Given the description of an element on the screen output the (x, y) to click on. 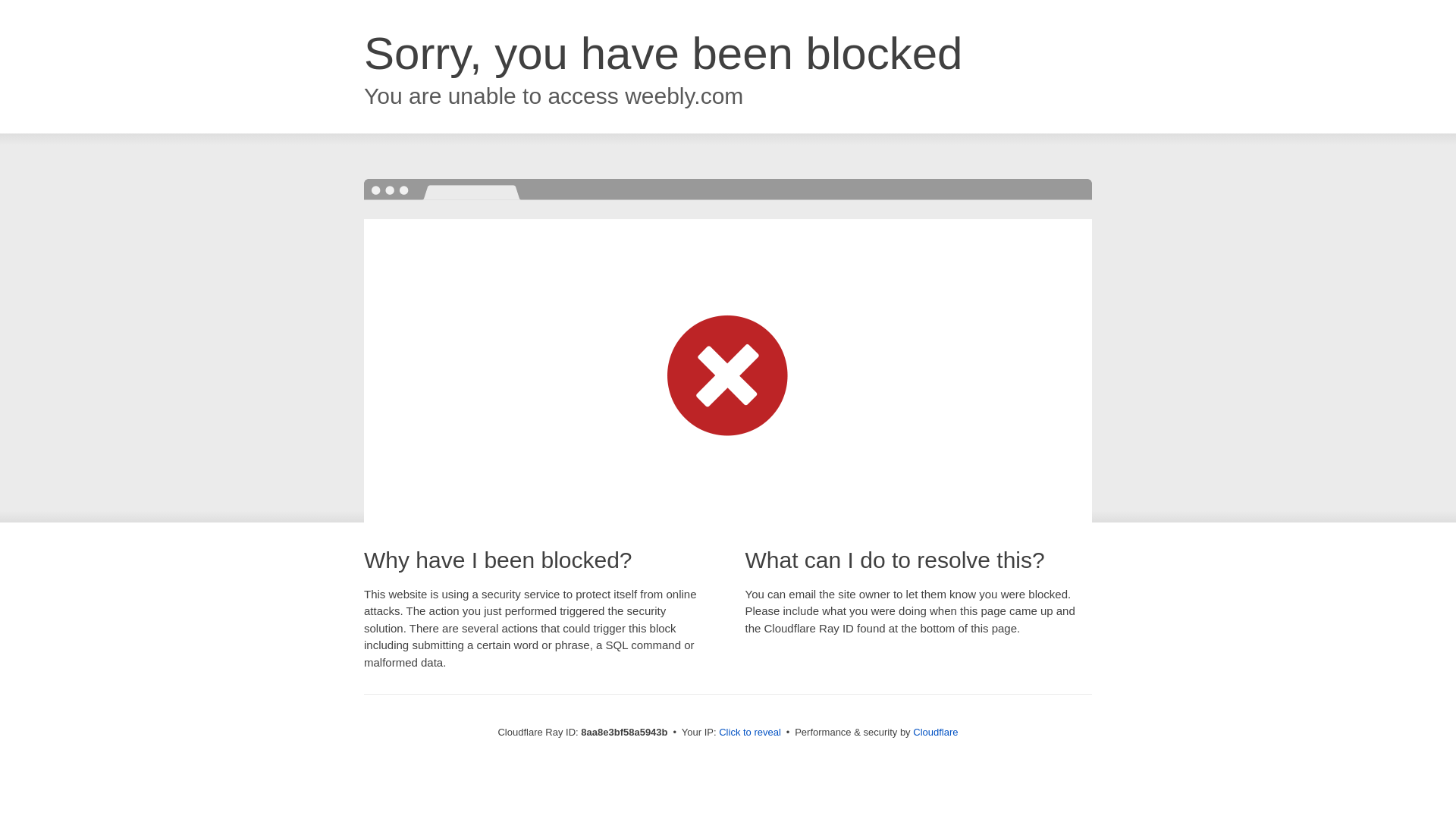
Click to reveal (749, 732)
Cloudflare (935, 731)
